Given the description of an element on the screen output the (x, y) to click on. 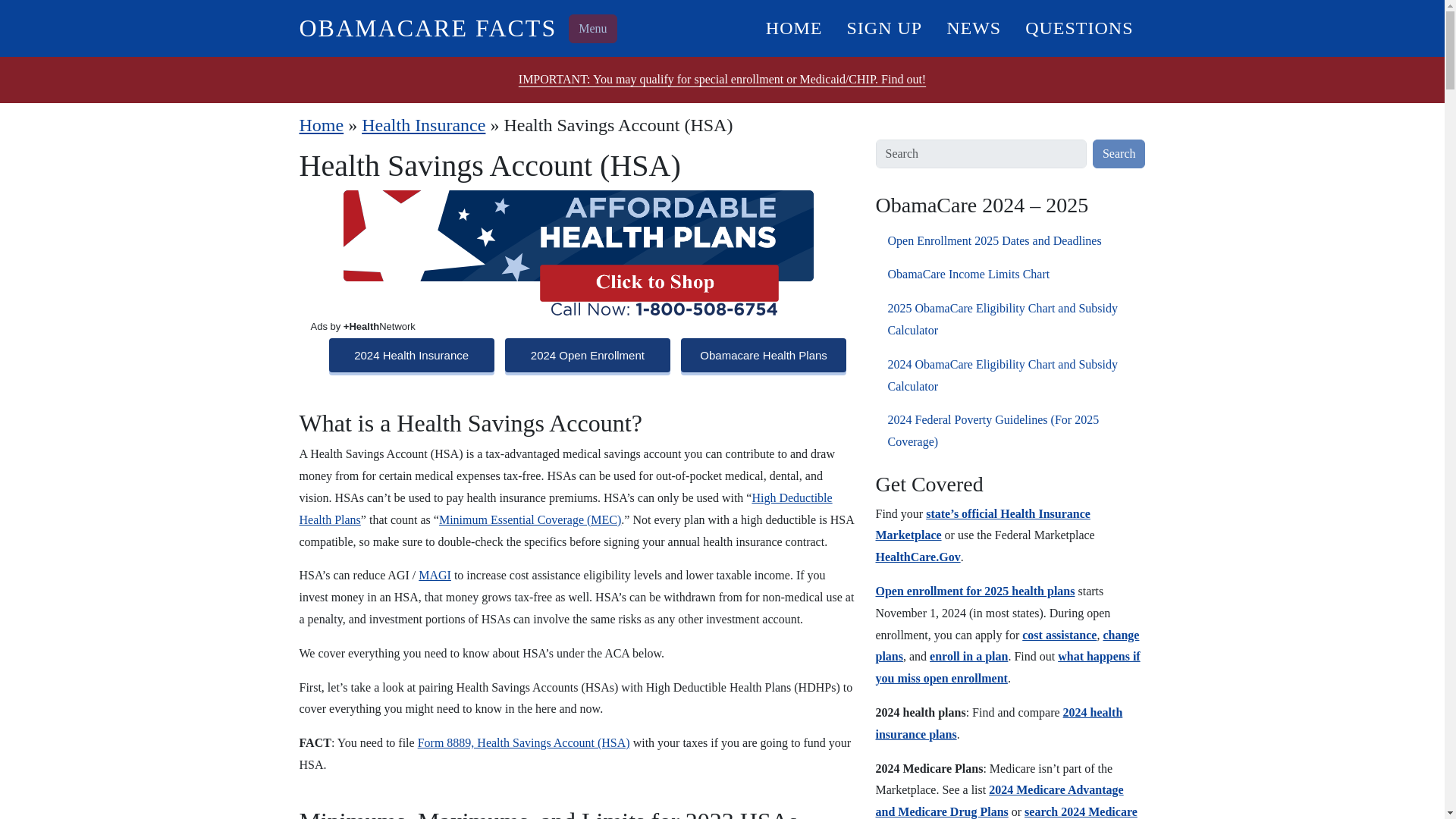
State's Health Insurance Marketplace (982, 524)
health savings account form 8889 (523, 742)
NEWS (973, 27)
SIGN UP (884, 27)
Menu (592, 28)
Federal HealthCare.Gov (917, 556)
QUESTIONS (1078, 27)
HOME (794, 27)
OBAMACARE FACTS (427, 28)
